Given the description of an element on the screen output the (x, y) to click on. 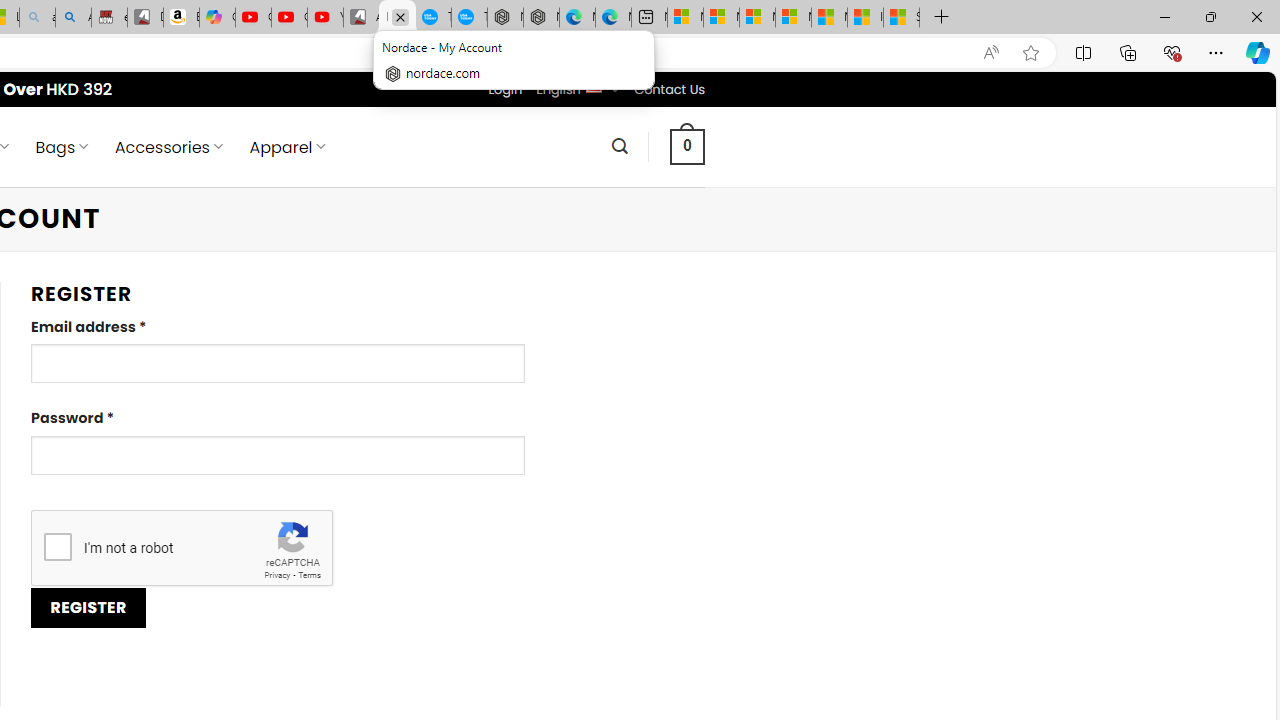
Privacy (276, 575)
Nordace - My Account (397, 17)
amazon - Search - Sleeping (37, 17)
I'm not a robot (57, 546)
 0  (687, 146)
